Given the description of an element on the screen output the (x, y) to click on. 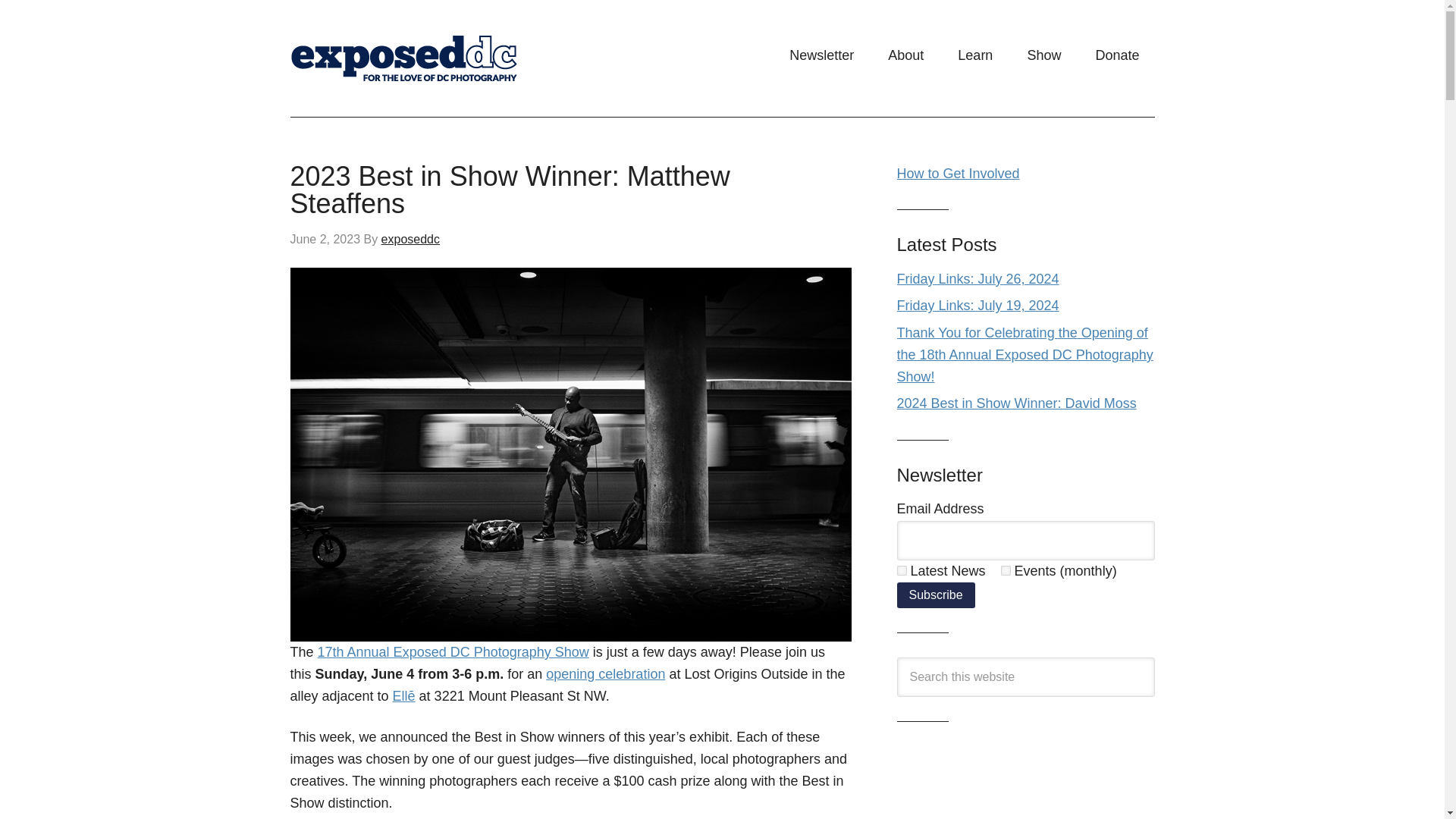
Show (1043, 55)
Donate (1117, 55)
2 (1005, 570)
2023 Best in Show Winner: Matthew Steaffens (509, 189)
About (905, 55)
17th Annual Exposed DC Photography Show (453, 652)
exposed dc (440, 58)
Newsletter (821, 55)
exposeddc (410, 238)
Subscribe (935, 595)
Learn (974, 55)
opening celebration (605, 673)
1 (900, 570)
